Given the description of an element on the screen output the (x, y) to click on. 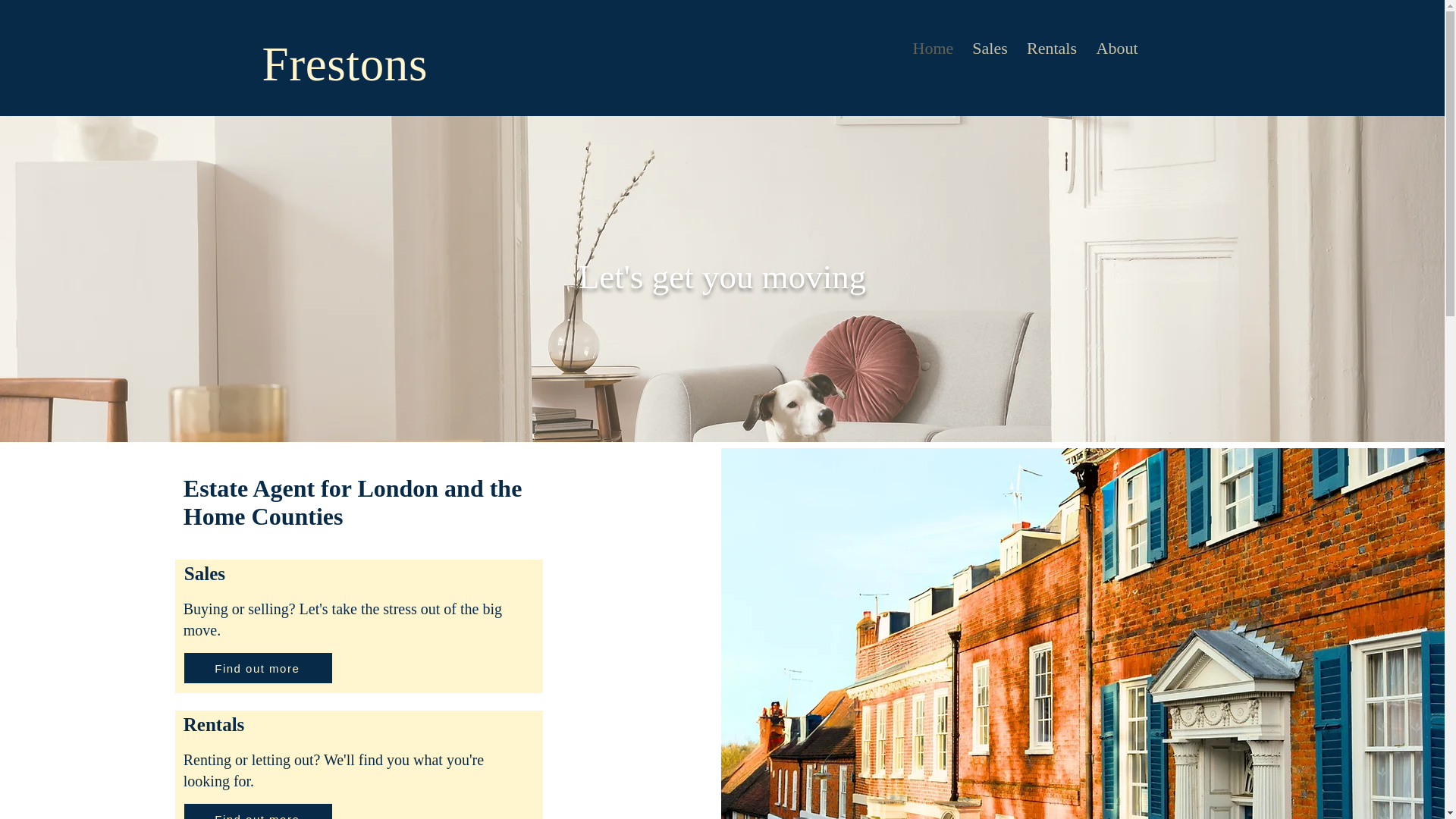
About (1117, 48)
Sales (989, 48)
Rentals (1051, 48)
Find out more (257, 667)
Frestons (345, 63)
Home (932, 48)
Find out more (257, 811)
